Given the description of an element on the screen output the (x, y) to click on. 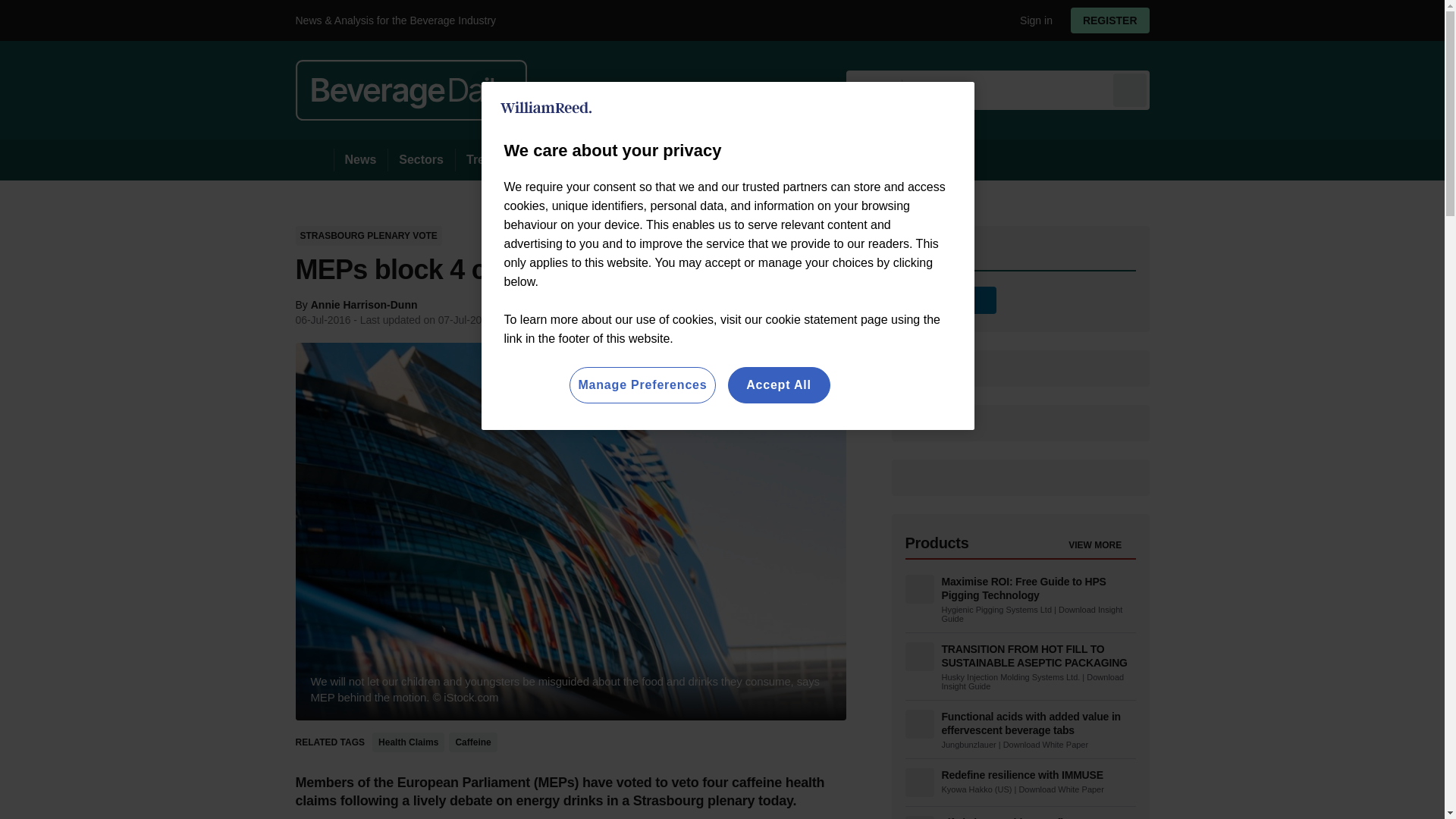
Sign out (1032, 20)
BeverageDaily (411, 89)
News (360, 159)
Send (1129, 89)
Trends (485, 159)
Send (1129, 90)
REGISTER (1110, 20)
Sectors (420, 159)
Home (314, 159)
William Reed (545, 107)
Sign in (1029, 20)
Home (313, 159)
My account (1114, 20)
